Given the description of an element on the screen output the (x, y) to click on. 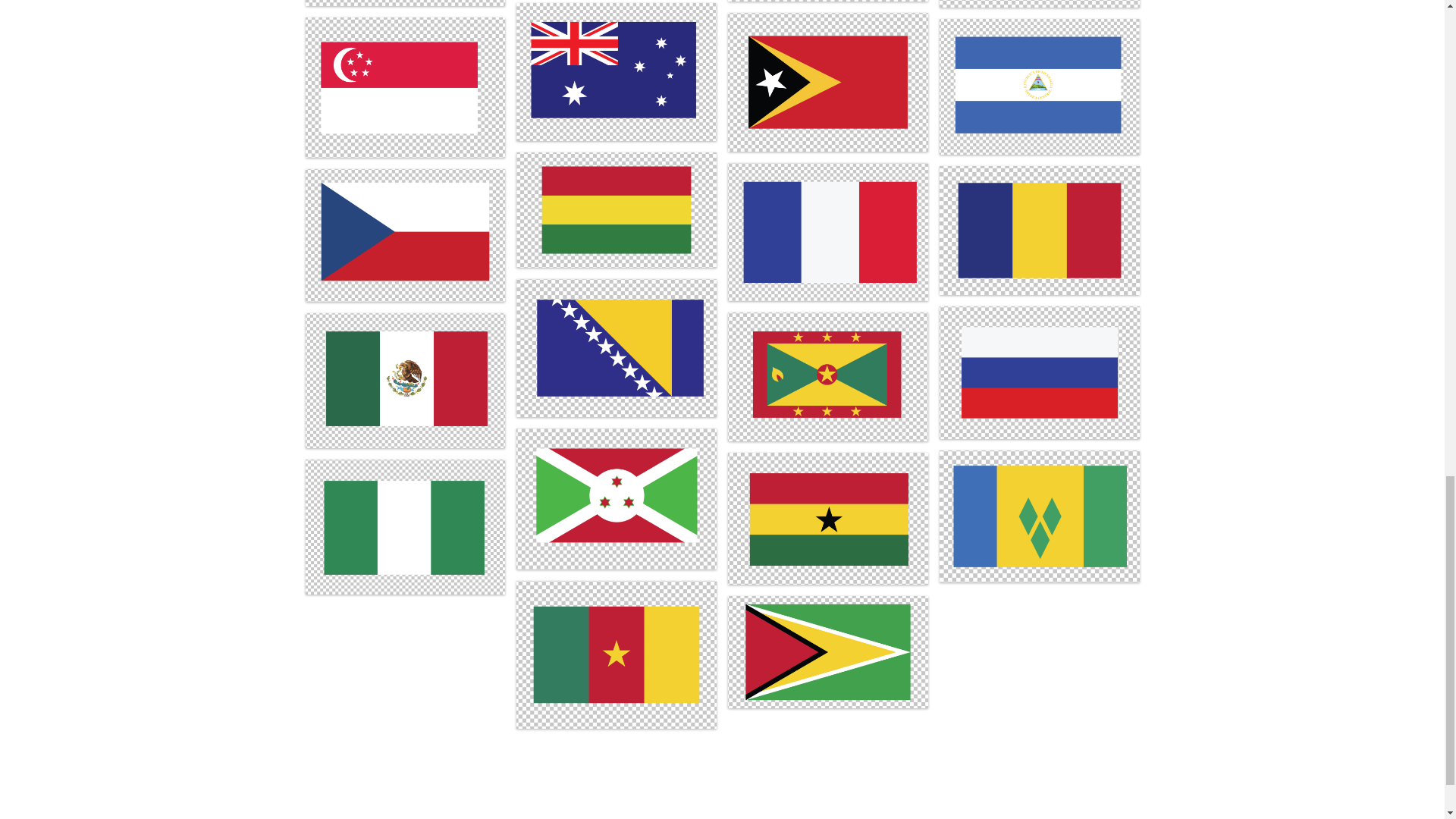
Singapore Flag PNG Image (404, 87)
Flag of East Timor PNG Image (828, 82)
Bolivian flag PNG image (616, 209)
Flag of Burundi PNG image (616, 498)
Flag of Mexico PNG Image (404, 379)
Flag of Bosnia and Herzegovina PNG image (616, 348)
Flag of Australia PNG Image (616, 71)
Flag of Cameroon PNG image (616, 654)
Nigeria flag PNG Image (404, 526)
Flag of Seychelles PNG Image (404, 2)
Flag of the Czech Republic PNG Image (404, 235)
